Given the description of an element on the screen output the (x, y) to click on. 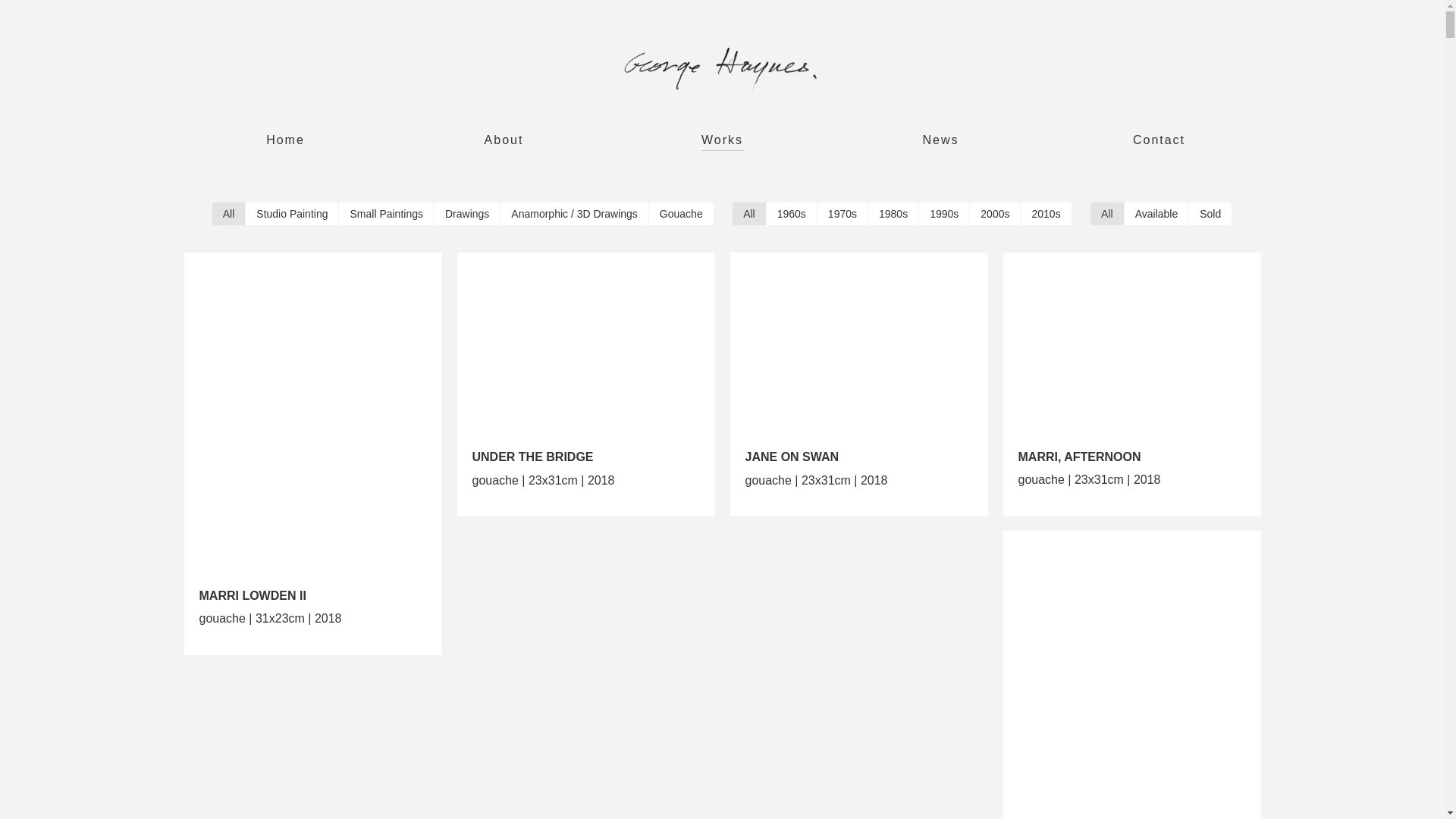
Studio Painting Element type: text (291, 213)
About Element type: text (504, 141)
1990s Element type: text (944, 213)
1980s Element type: text (893, 213)
Home Element type: text (285, 141)
Gouache Element type: text (681, 213)
Available Element type: text (1156, 213)
All Element type: text (748, 213)
Anamorphic / 3D Drawings Element type: text (574, 213)
2000s Element type: text (994, 213)
Contact Element type: text (1158, 141)
News Element type: text (940, 141)
MARRI, AFTERNOON - gouache | 23x31cm | 2018 Element type: hover (1131, 351)
UNDER THE BRIDGE - gouache | 23x31cm | 2018 Element type: hover (585, 351)
MARRI LOWDEN II - gouache | 31x23cm | 2018 Element type: hover (312, 421)
2010s Element type: text (1045, 213)
Drawings Element type: text (466, 213)
Small Paintings Element type: text (385, 213)
Works Element type: text (722, 141)
1970s Element type: text (842, 213)
Sold Element type: text (1210, 213)
All Element type: text (1106, 213)
1960s Element type: text (791, 213)
All Element type: text (228, 213)
JANE ON SWAN - gouache | 23x31cm | 2018 Element type: hover (858, 351)
